Given the description of an element on the screen output the (x, y) to click on. 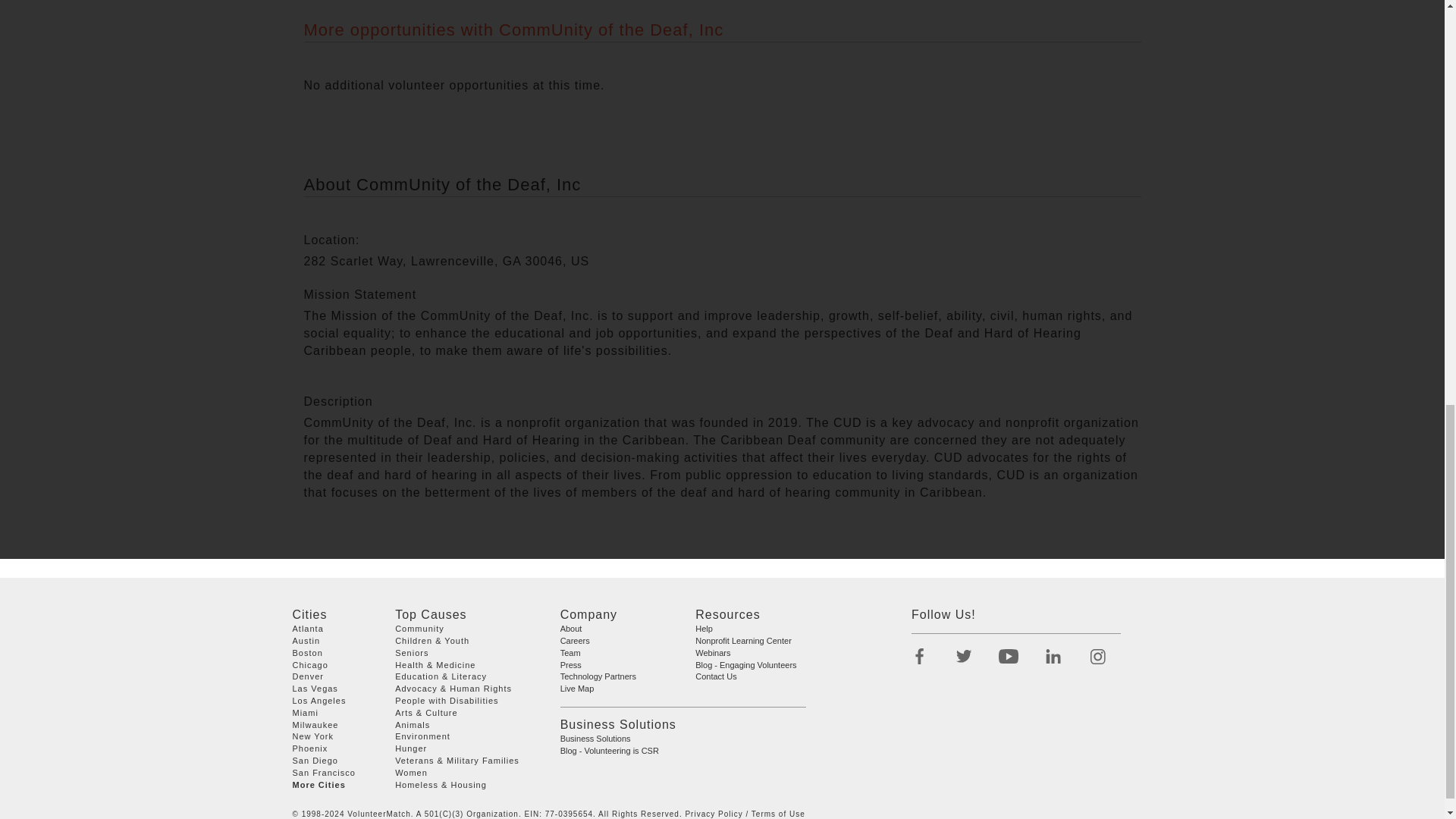
Las Vegas (314, 687)
Atlanta (307, 628)
Denver (307, 675)
Austin (306, 640)
Chicago (310, 664)
Boston (307, 652)
More opportunities with CommUnity of the Deaf, Inc (512, 29)
